Given the description of an element on the screen output the (x, y) to click on. 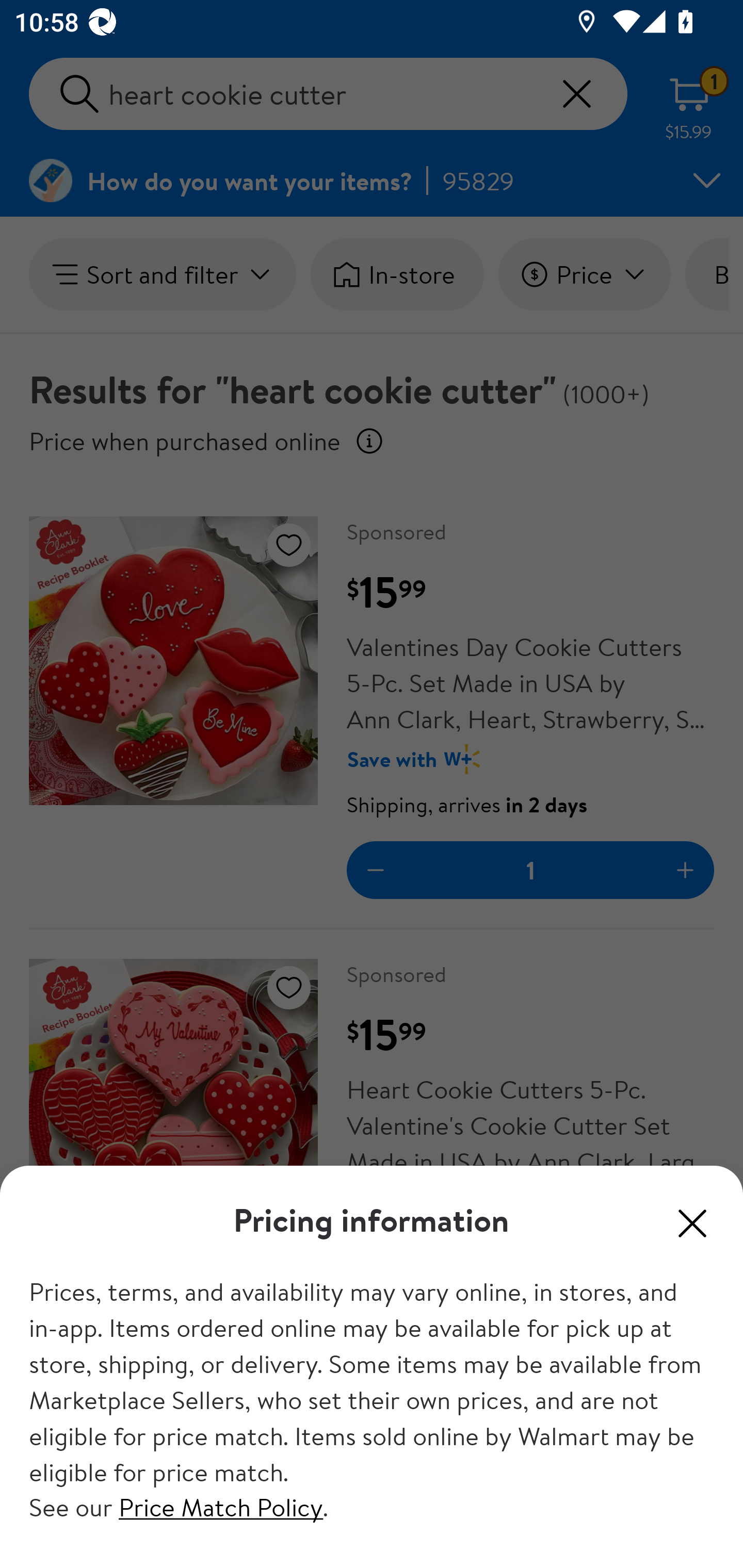
Close (692, 1222)
